Given the description of an element on the screen output the (x, y) to click on. 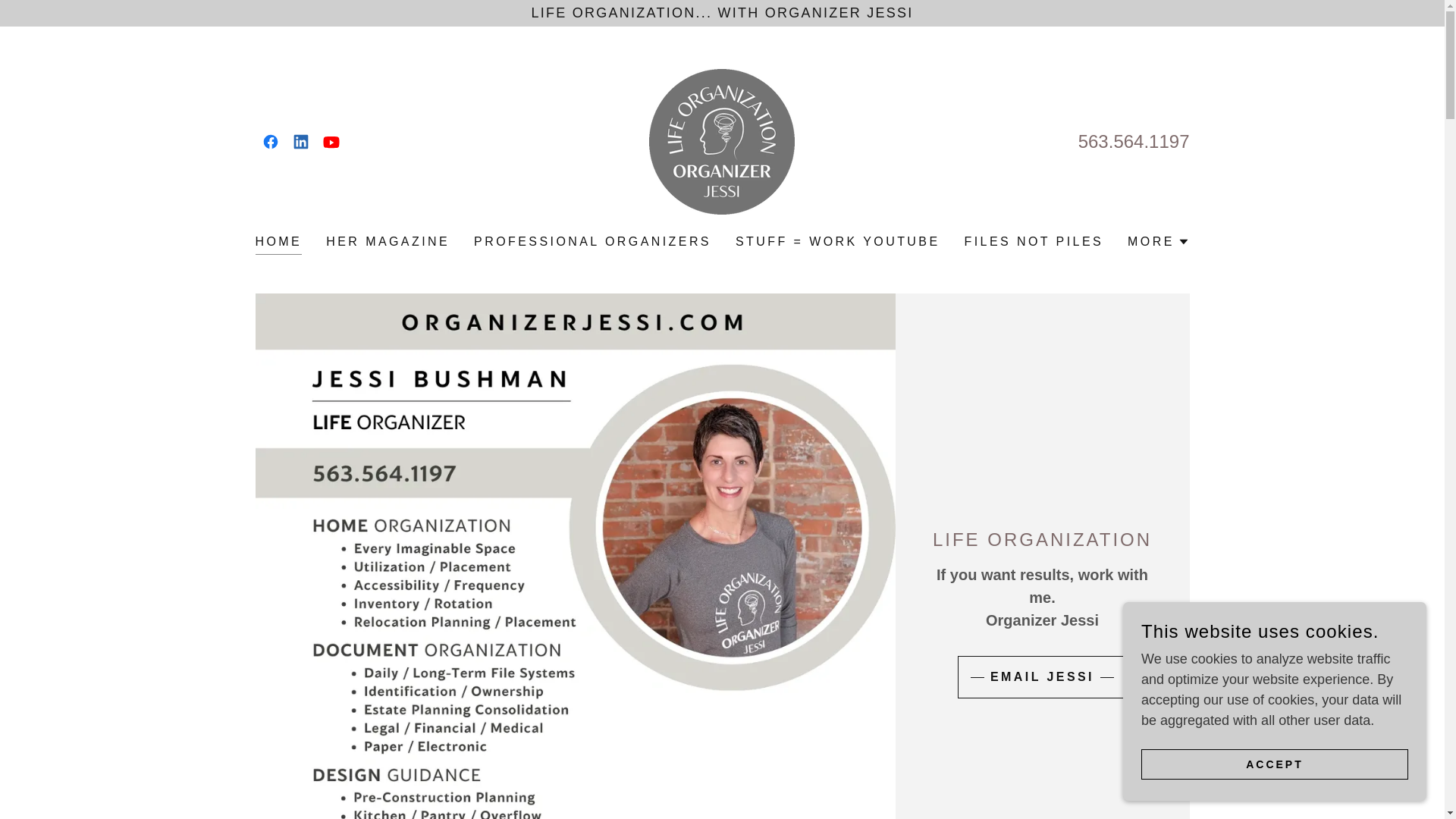
HOME (277, 243)
563.564.1197 (1133, 141)
MORE (1157, 241)
HER MAGAZINE (387, 241)
FILES NOT PILES (1033, 241)
EMAIL JESSI (1042, 677)
Organizer Jessi (721, 140)
PROFESSIONAL ORGANIZERS (592, 241)
